Given the description of an element on the screen output the (x, y) to click on. 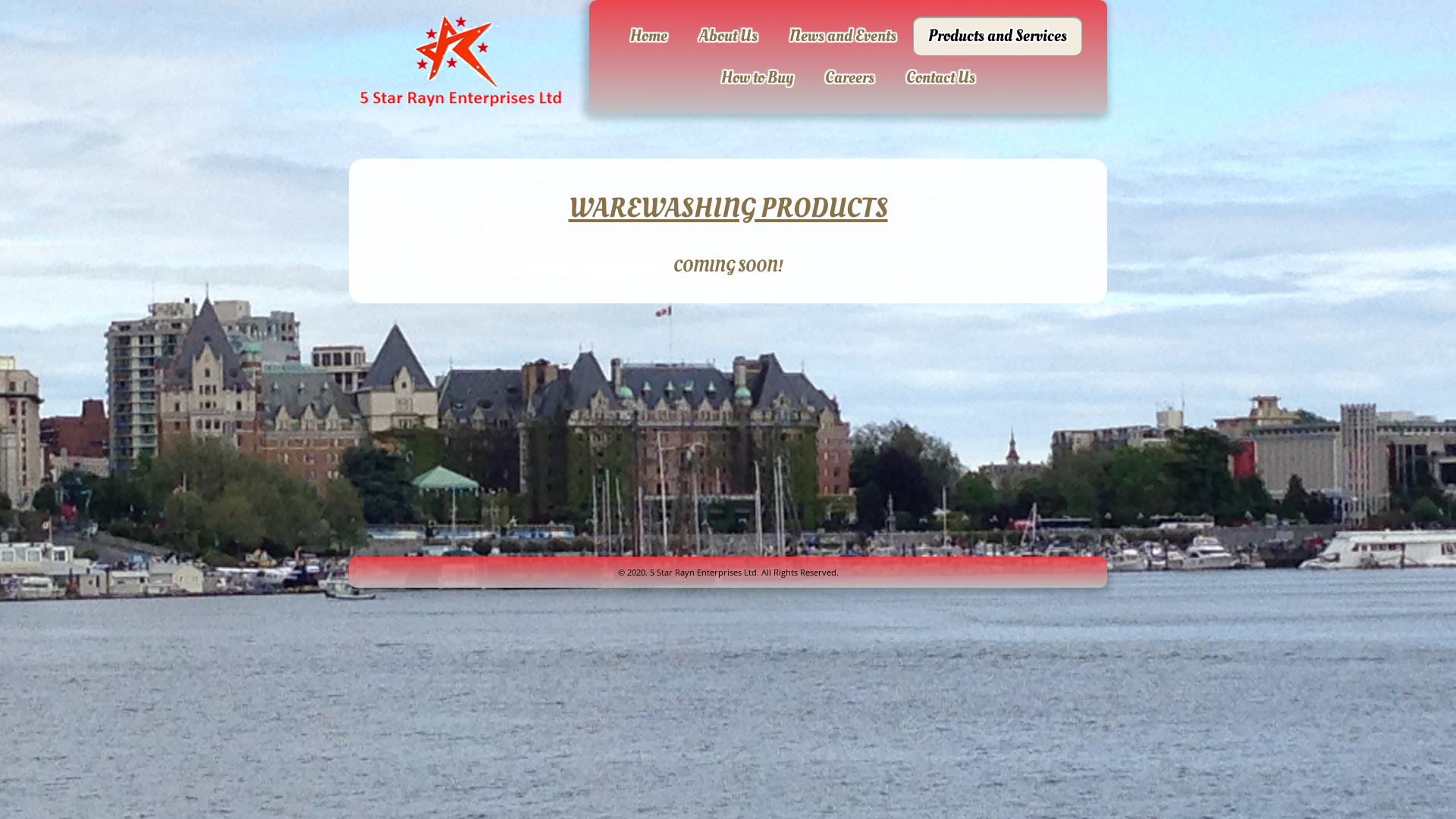
Contact Us Element type: text (940, 77)
News and Events Element type: text (842, 35)
About Us Element type: text (728, 35)
Careers Element type: text (849, 77)
Products and Services Element type: text (997, 35)
How to Buy Element type: text (757, 77)
Home Element type: text (648, 35)
